Given the description of an element on the screen output the (x, y) to click on. 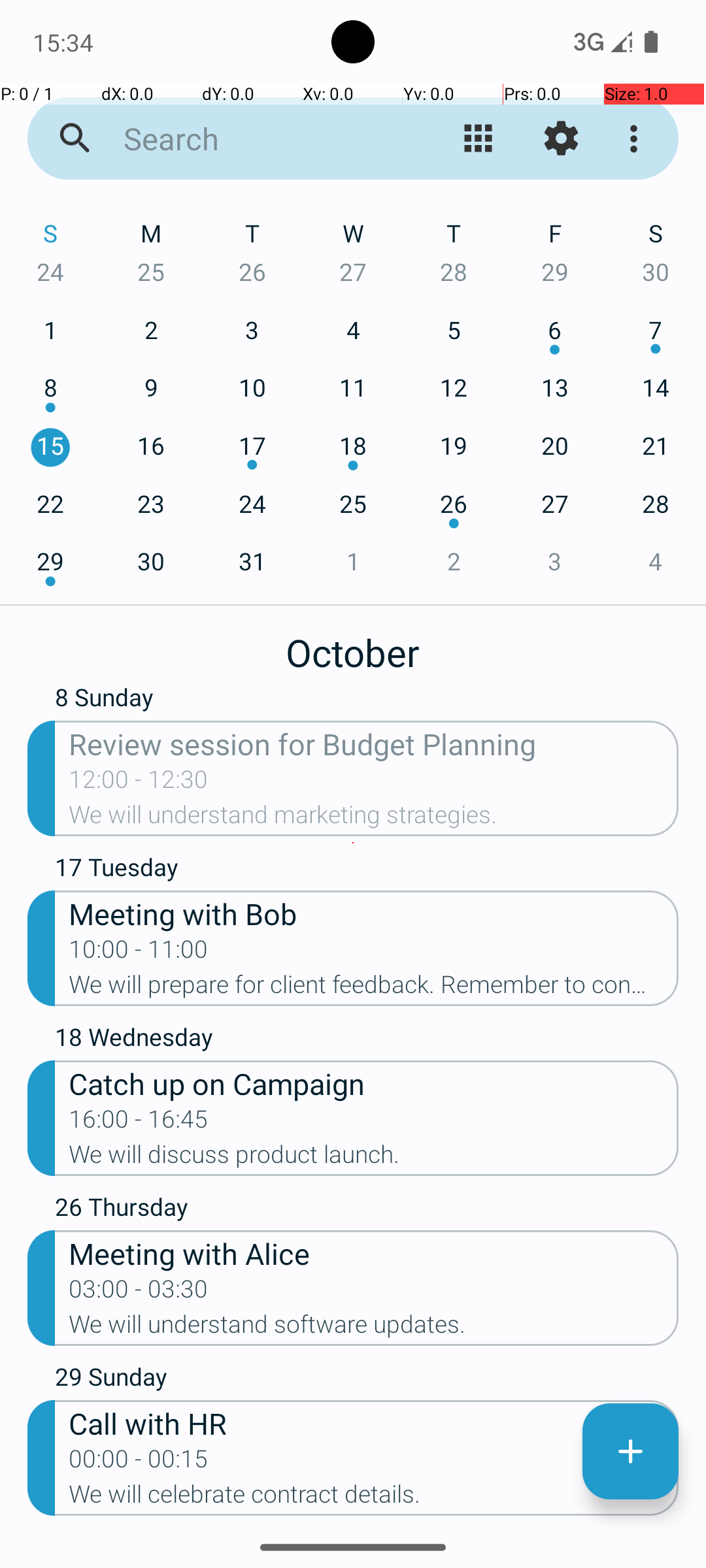
Change view Element type: android.widget.Button (477, 138)
New Event Element type: android.widget.ImageButton (630, 1451)
October Element type: android.widget.TextView (352, 644)
8 Sunday Element type: android.widget.TextView (366, 702)
17 Tuesday Element type: android.widget.TextView (366, 869)
18 Wednesday Element type: android.widget.TextView (366, 1039)
26 Thursday Element type: android.widget.TextView (366, 1209)
29 Sunday Element type: android.widget.TextView (366, 1379)
Review session for Budget Planning Element type: android.widget.TextView (373, 742)
12:00 - 12:30 Element type: android.widget.TextView (137, 782)
We will understand marketing strategies. Element type: android.widget.TextView (373, 818)
Meeting with Bob Element type: android.widget.TextView (373, 912)
10:00 - 11:00 Element type: android.widget.TextView (137, 952)
We will prepare for client feedback. Remember to confirm attendance. Element type: android.widget.TextView (373, 988)
Catch up on Campaign Element type: android.widget.TextView (373, 1082)
16:00 - 16:45 Element type: android.widget.TextView (137, 1122)
We will discuss product launch. Element type: android.widget.TextView (373, 1158)
Meeting with Alice Element type: android.widget.TextView (373, 1252)
03:00 - 03:30 Element type: android.widget.TextView (137, 1292)
We will understand software updates. Element type: android.widget.TextView (373, 1327)
Call with HR Element type: android.widget.TextView (373, 1422)
00:00 - 00:15 Element type: android.widget.TextView (137, 1462)
We will celebrate contract details. Element type: android.widget.TextView (373, 1497)
